Given the description of an element on the screen output the (x, y) to click on. 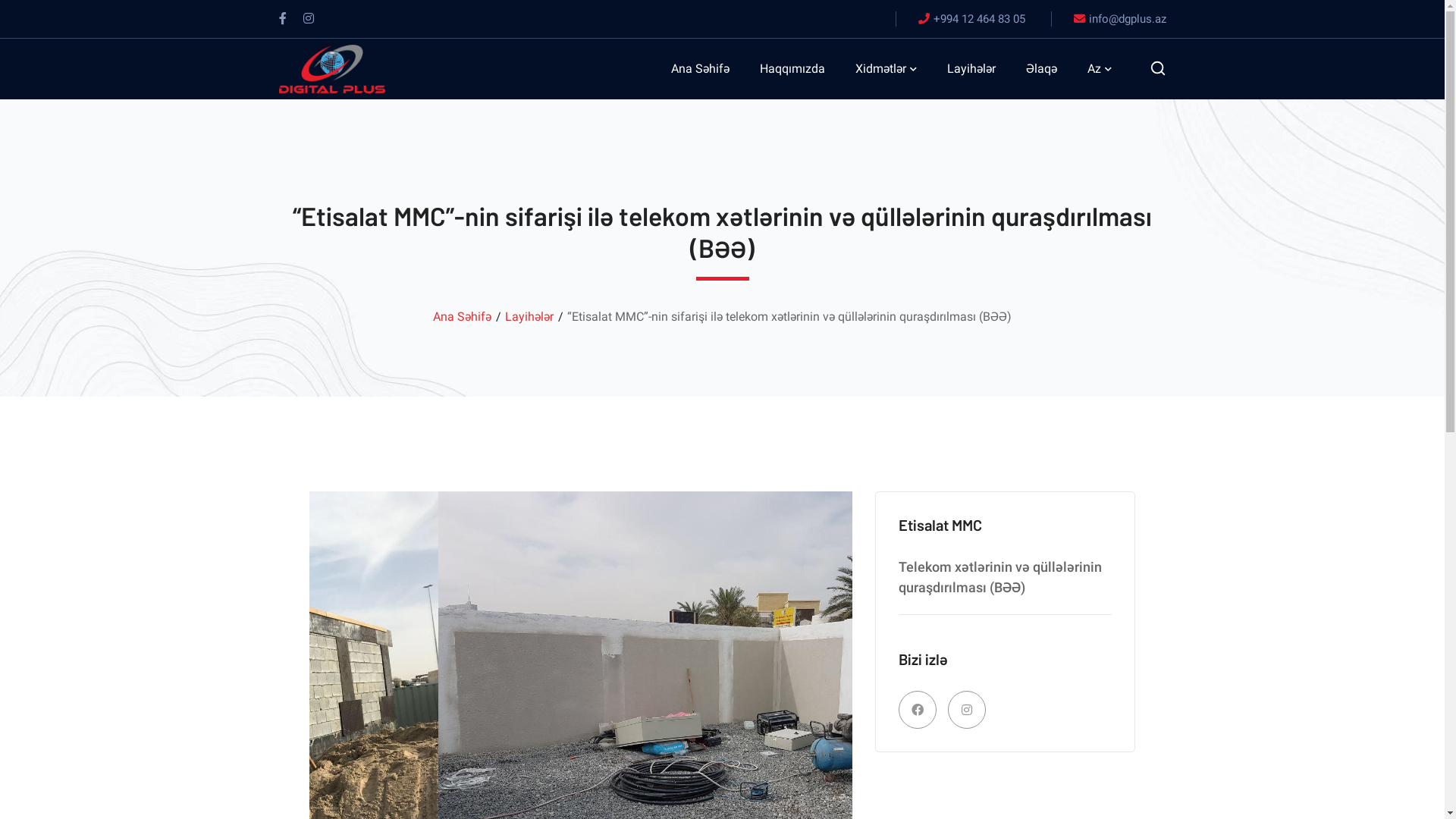
Digital Plus Element type: hover (332, 67)
Instagram Element type: hover (308, 18)
Az Element type: text (1099, 68)
Facebook Element type: hover (282, 18)
